Given the description of an element on the screen output the (x, y) to click on. 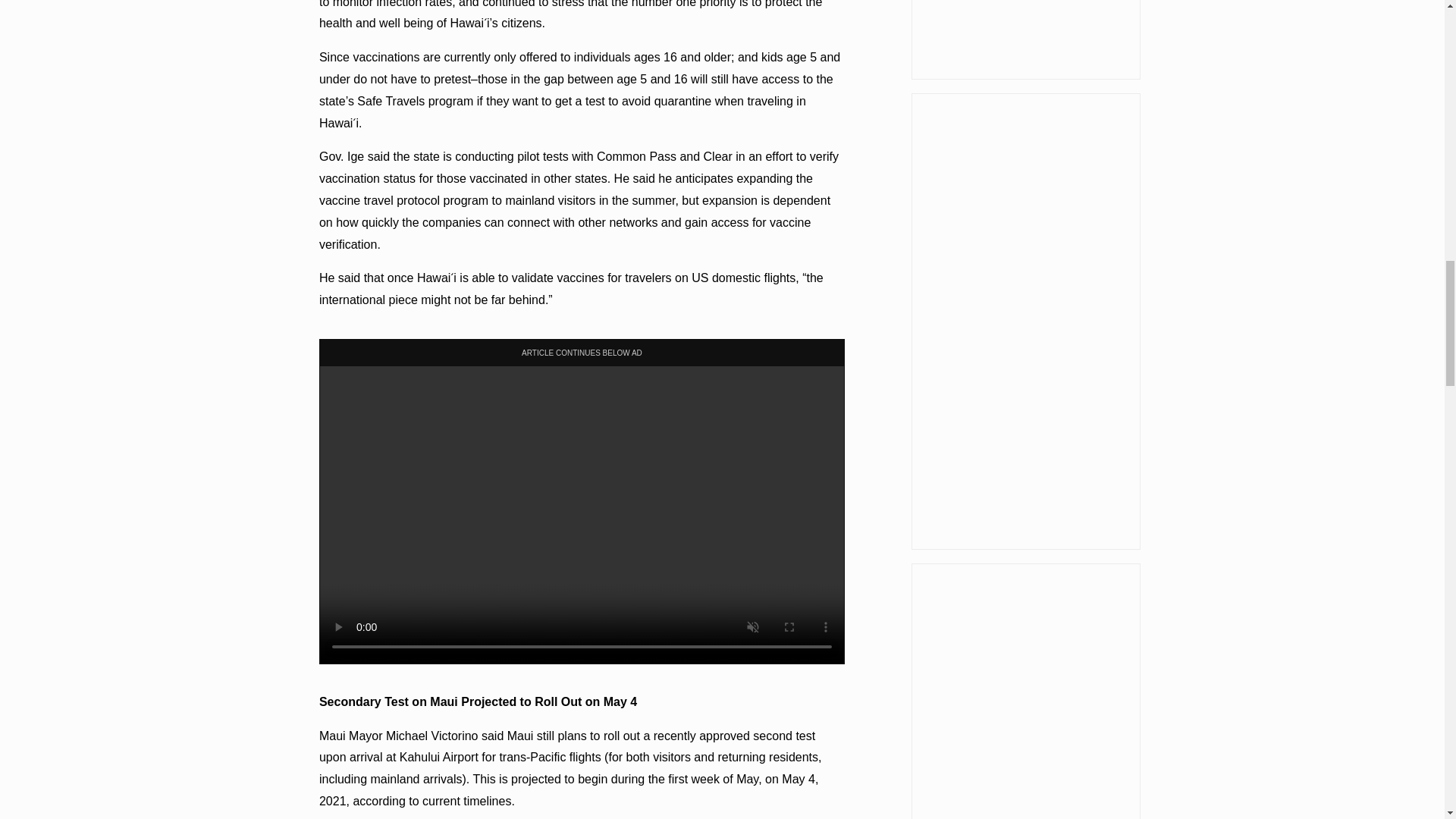
3rd party ad content (1025, 691)
3rd party ad content (1025, 39)
